Given the description of an element on the screen output the (x, y) to click on. 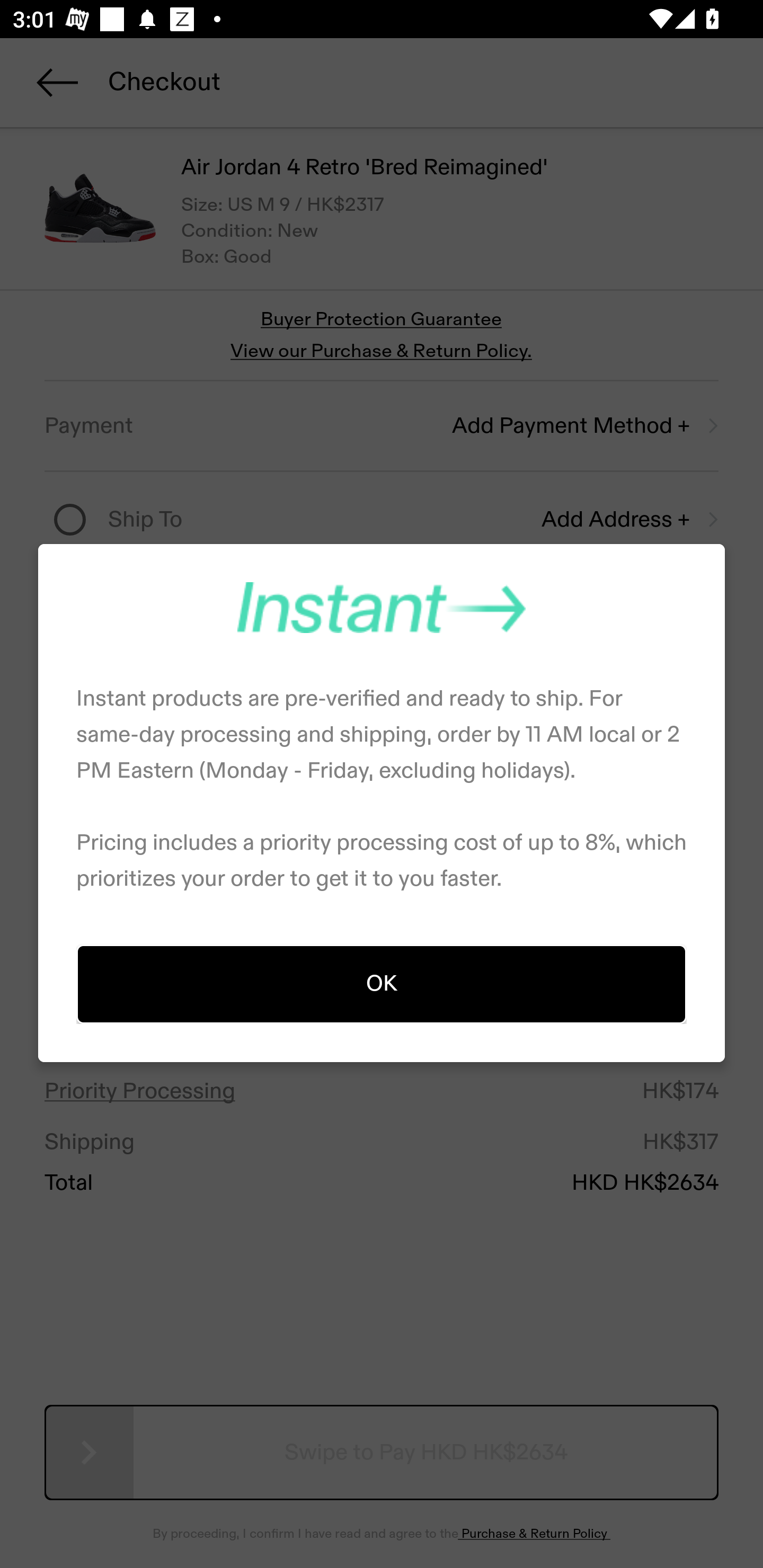
OK (381, 983)
